Given the description of an element on the screen output the (x, y) to click on. 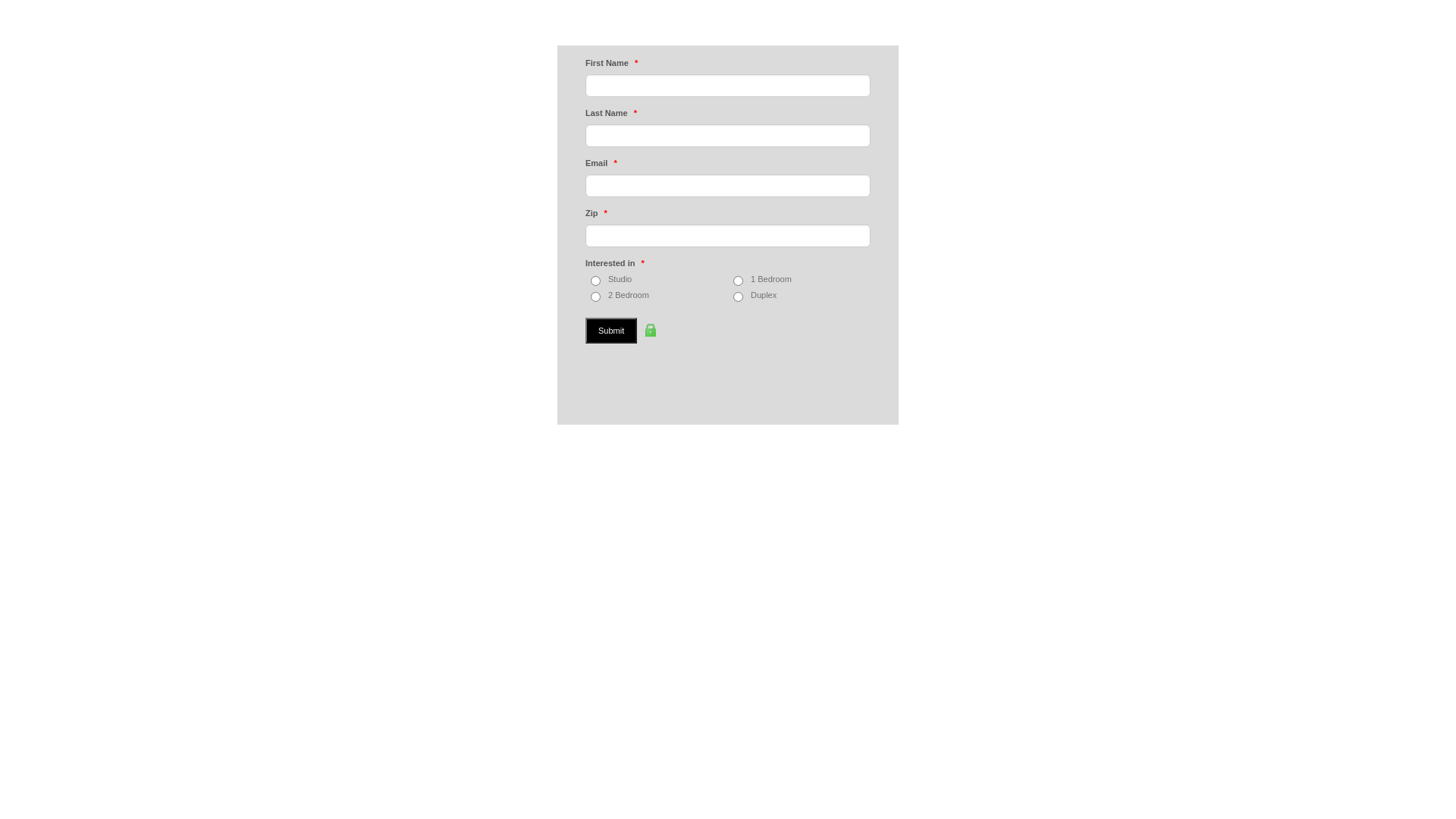
Submit Element type: text (611, 330)
